Given the description of an element on the screen output the (x, y) to click on. 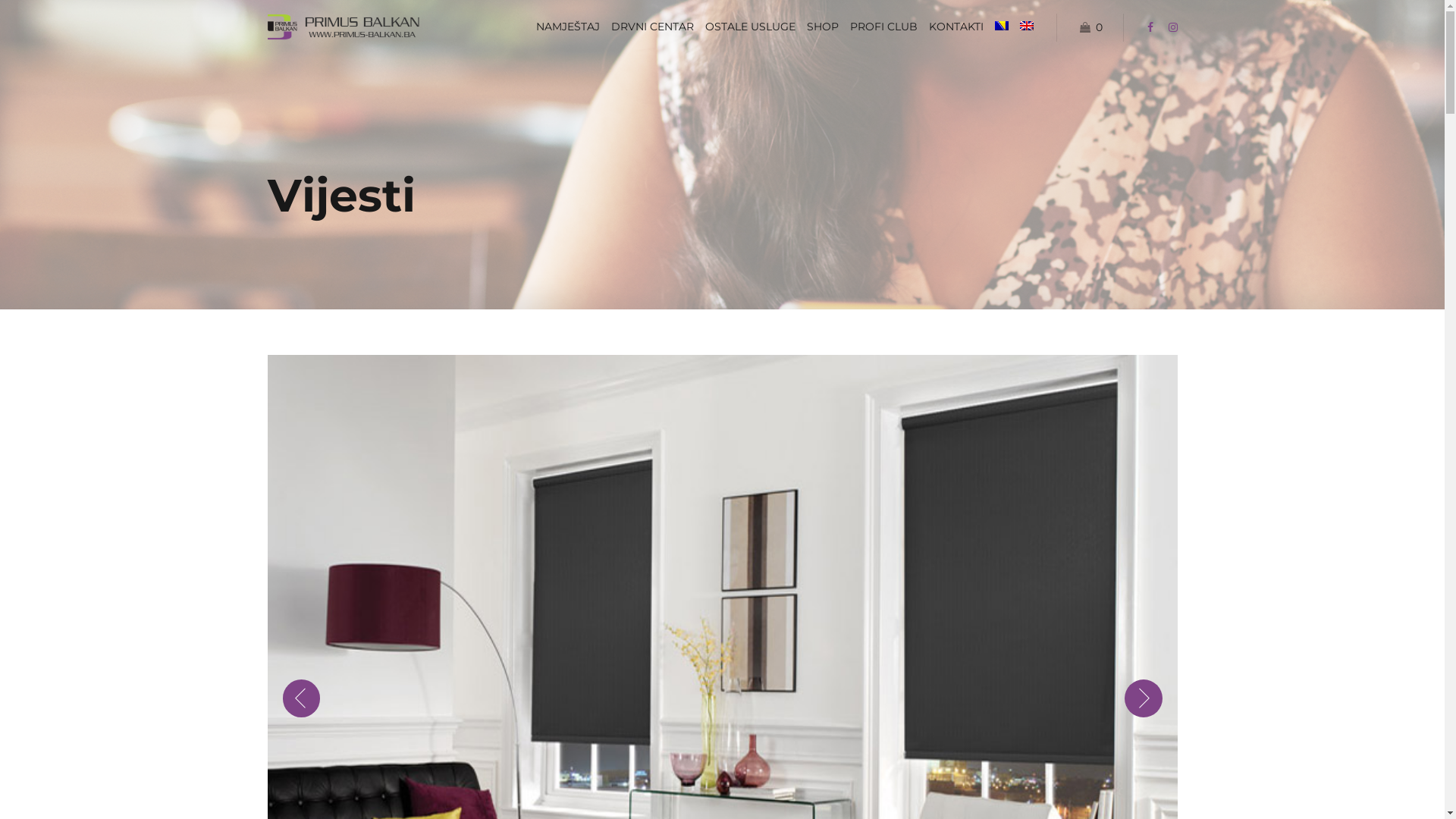
SHOP Element type: text (822, 26)
PROFI CLUB Element type: text (883, 26)
KONTAKTI Element type: text (955, 26)
DRVNI CENTAR Element type: text (652, 26)
OSTALE USLUGE Element type: text (750, 26)
